Given the description of an element on the screen output the (x, y) to click on. 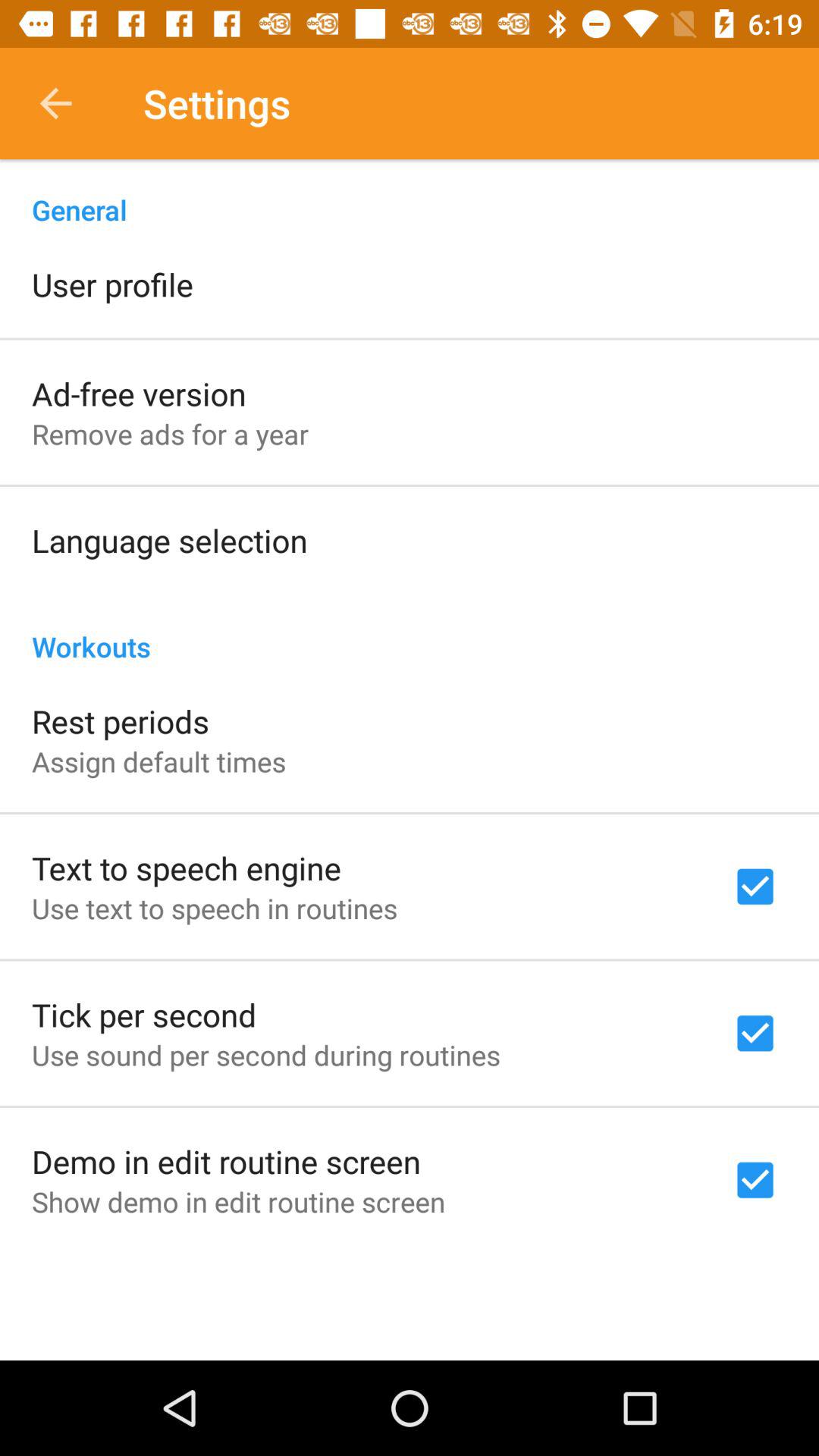
press the ad-free version icon (138, 393)
